Given the description of an element on the screen output the (x, y) to click on. 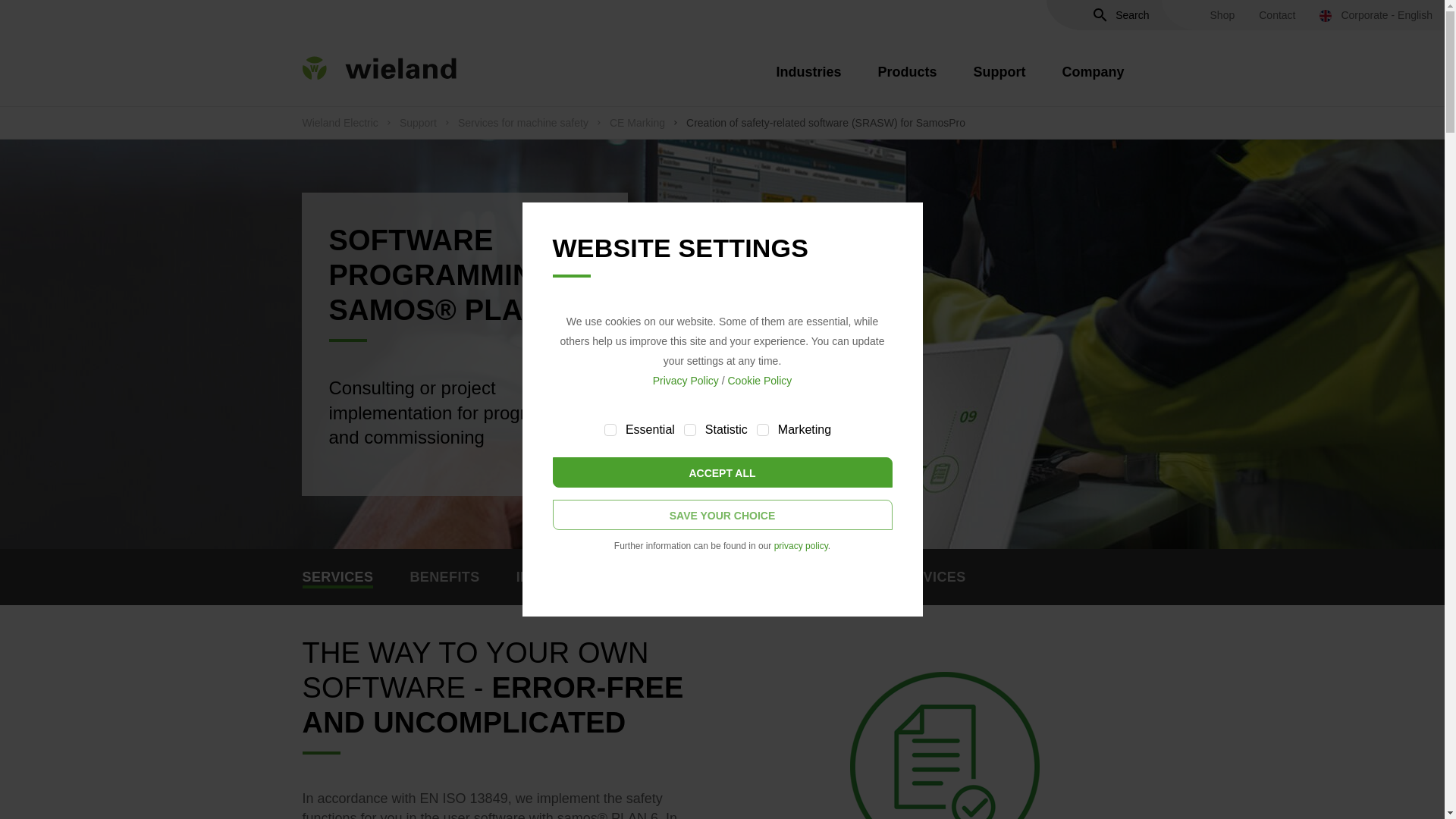
Corporate - English (1375, 15)
Products (907, 80)
Industries (808, 80)
Contact (1276, 15)
Shop (1222, 15)
